Given the description of an element on the screen output the (x, y) to click on. 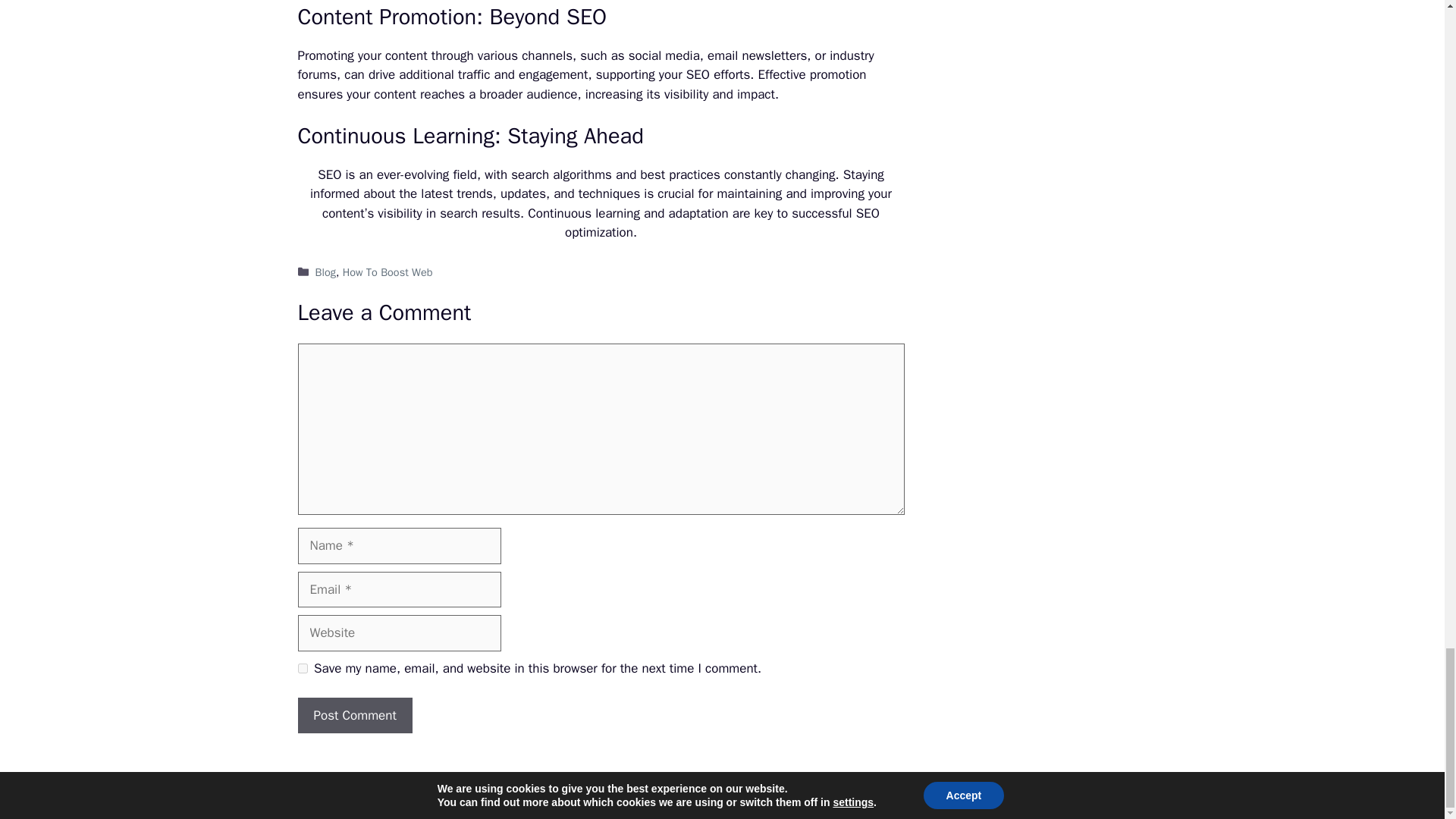
Post Comment (354, 715)
Post Comment (354, 715)
yes (302, 668)
audience, increasing (585, 94)
Blog (325, 272)
How To Boost Web (387, 272)
